Given the description of an element on the screen output the (x, y) to click on. 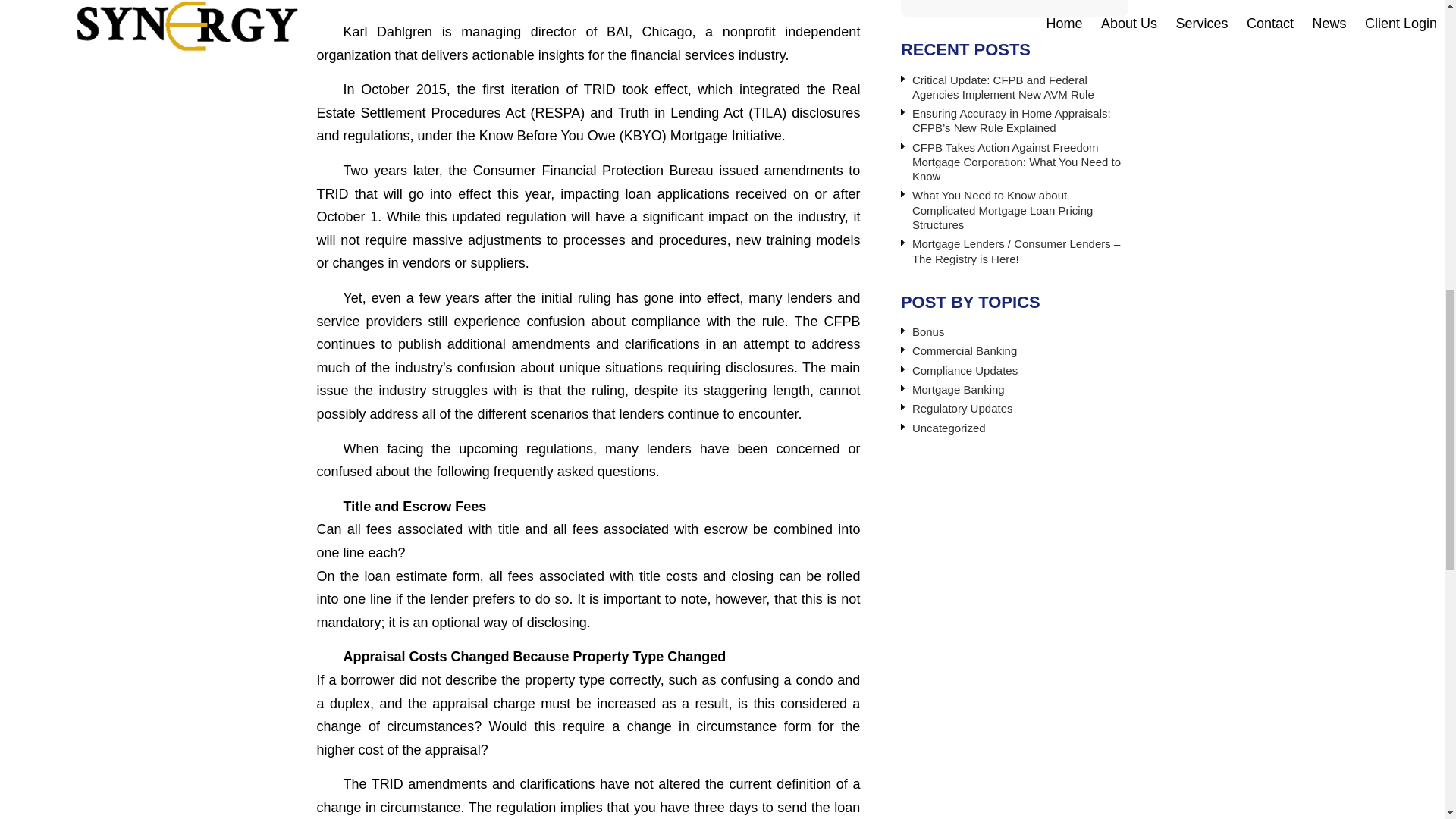
Compliance Updates (964, 369)
Regulatory Updates (962, 408)
Commercial Banking (964, 350)
Uncategorized (948, 427)
Bonus (928, 331)
Mortgage Banking (958, 389)
